Given the description of an element on the screen output the (x, y) to click on. 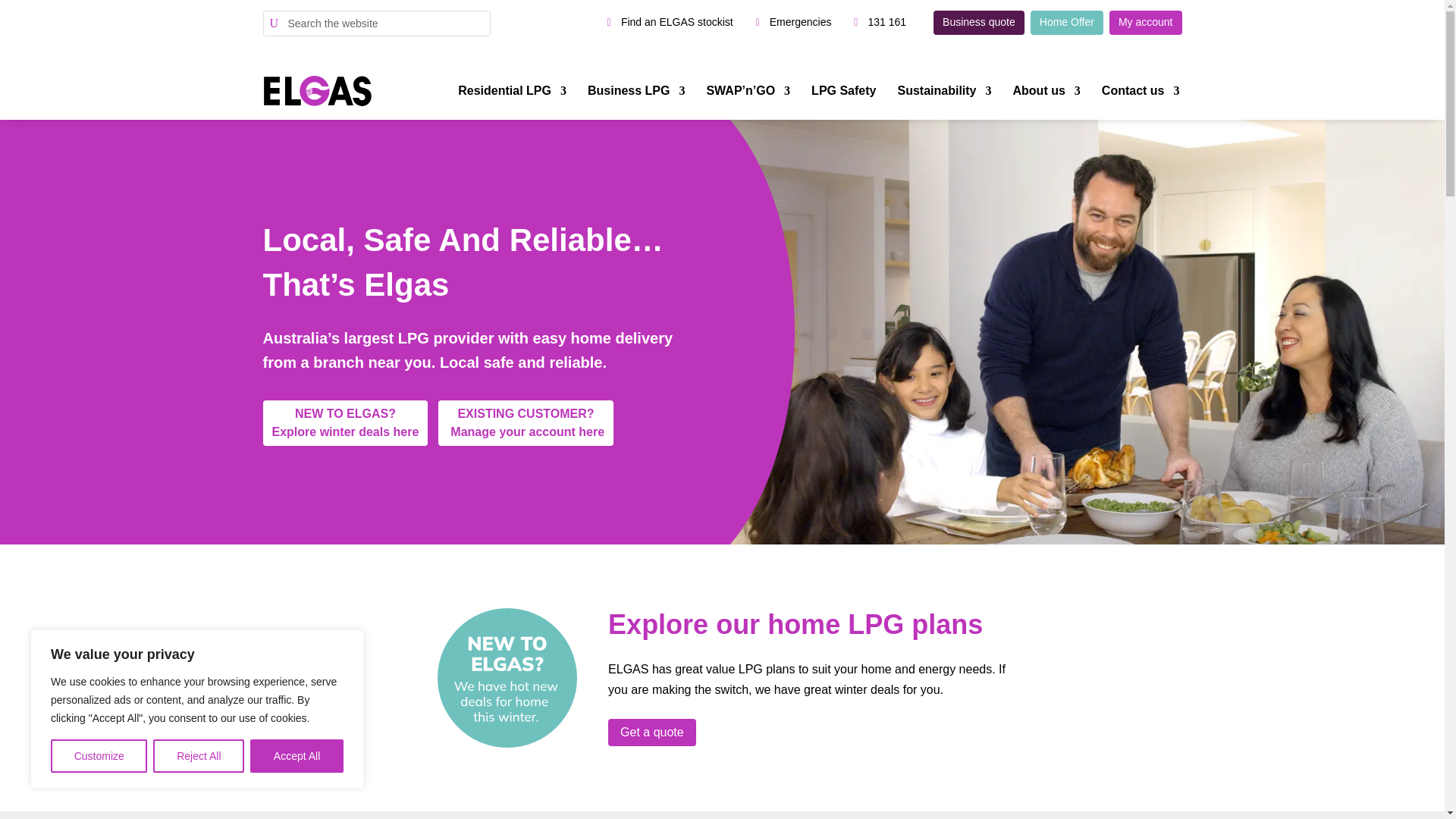
Search (24, 12)
Accept All (296, 756)
Home Offer (1066, 22)
Business LPG (636, 90)
Customize (98, 756)
Reject All (198, 756)
Emergencies (800, 22)
Residential LPG (512, 90)
Find an ELGAS stockist (665, 22)
131 161 (887, 22)
Business quote (979, 22)
new-to-elgas (506, 677)
My account (1145, 22)
